Given the description of an element on the screen output the (x, y) to click on. 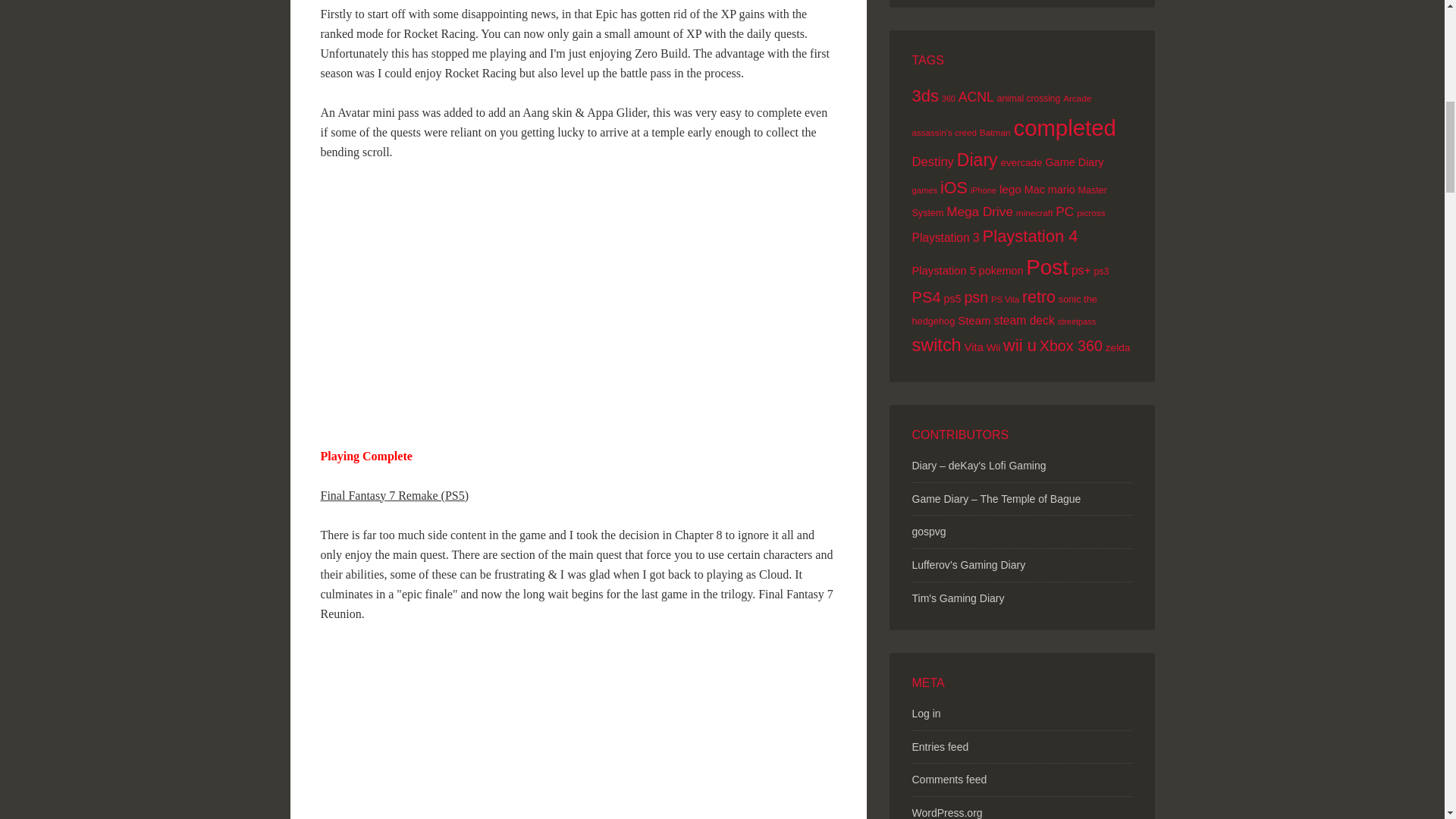
I play games and sometimes write about them (957, 598)
YouTube video player (532, 300)
I play all the games I play all the games. (978, 465)
YouTube video player (532, 730)
